Given the description of an element on the screen output the (x, y) to click on. 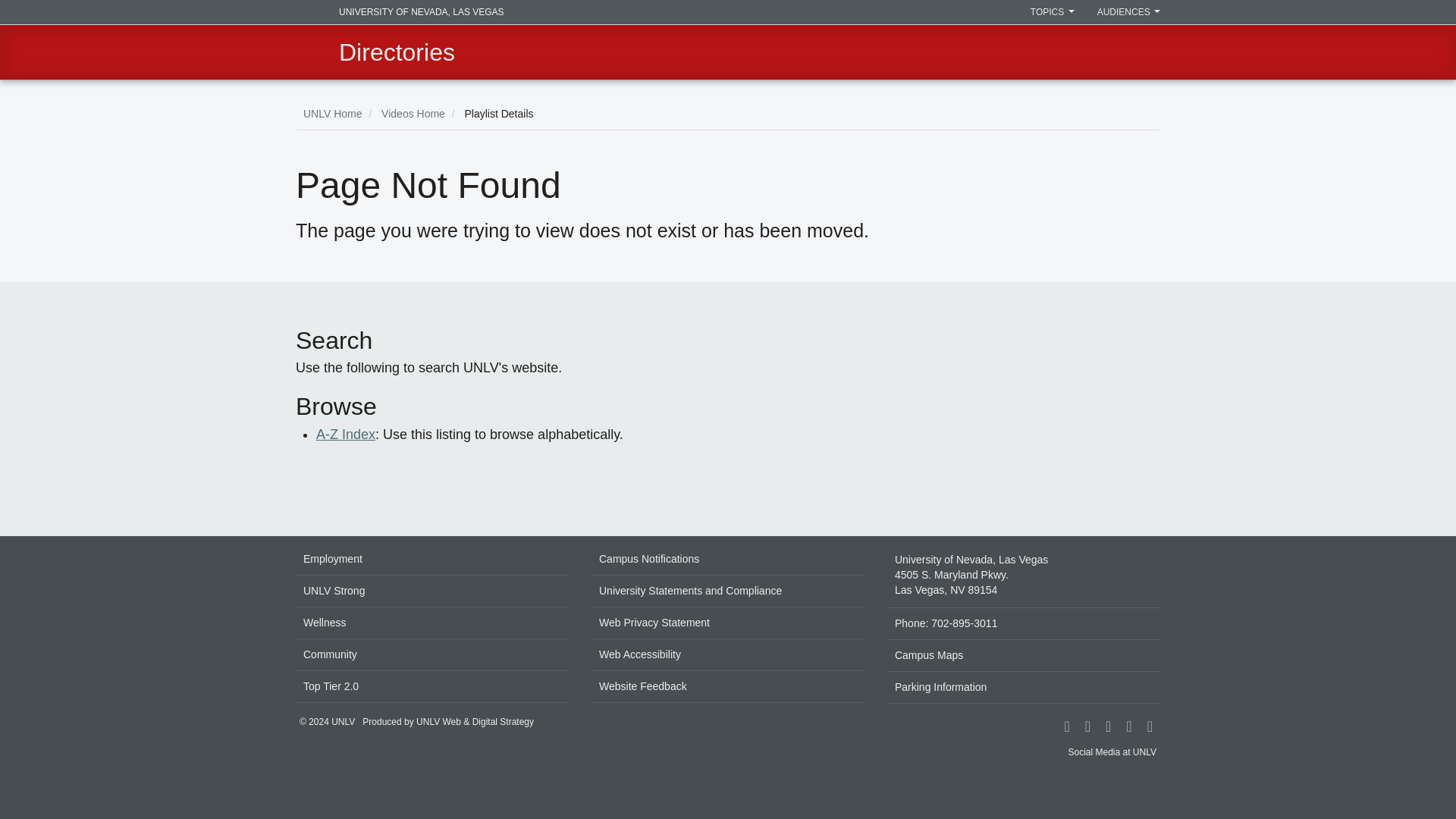
Directories (396, 51)
View Campus Map (1023, 575)
Follow us on TikTok (1108, 727)
Watch us on YouTube (1149, 727)
Find us on Instagram (1087, 727)
UNIVERSITY OF NEVADA, LAS VEGAS (399, 11)
Find (1144, 52)
Follow us on Twitter (1128, 727)
TOPICS (1052, 12)
